Given the description of an element on the screen output the (x, y) to click on. 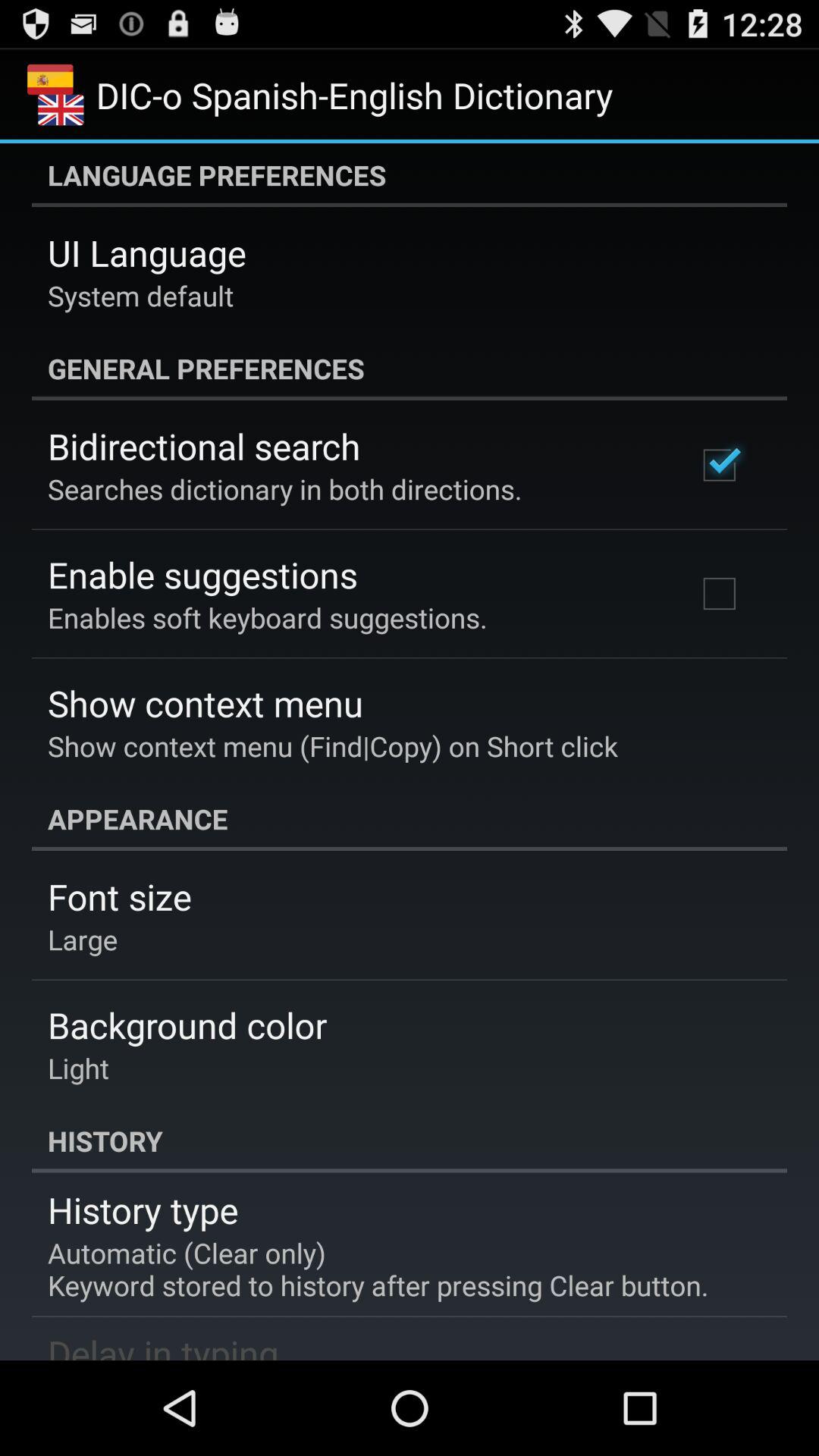
click general preferences item (409, 368)
